Given the description of an element on the screen output the (x, y) to click on. 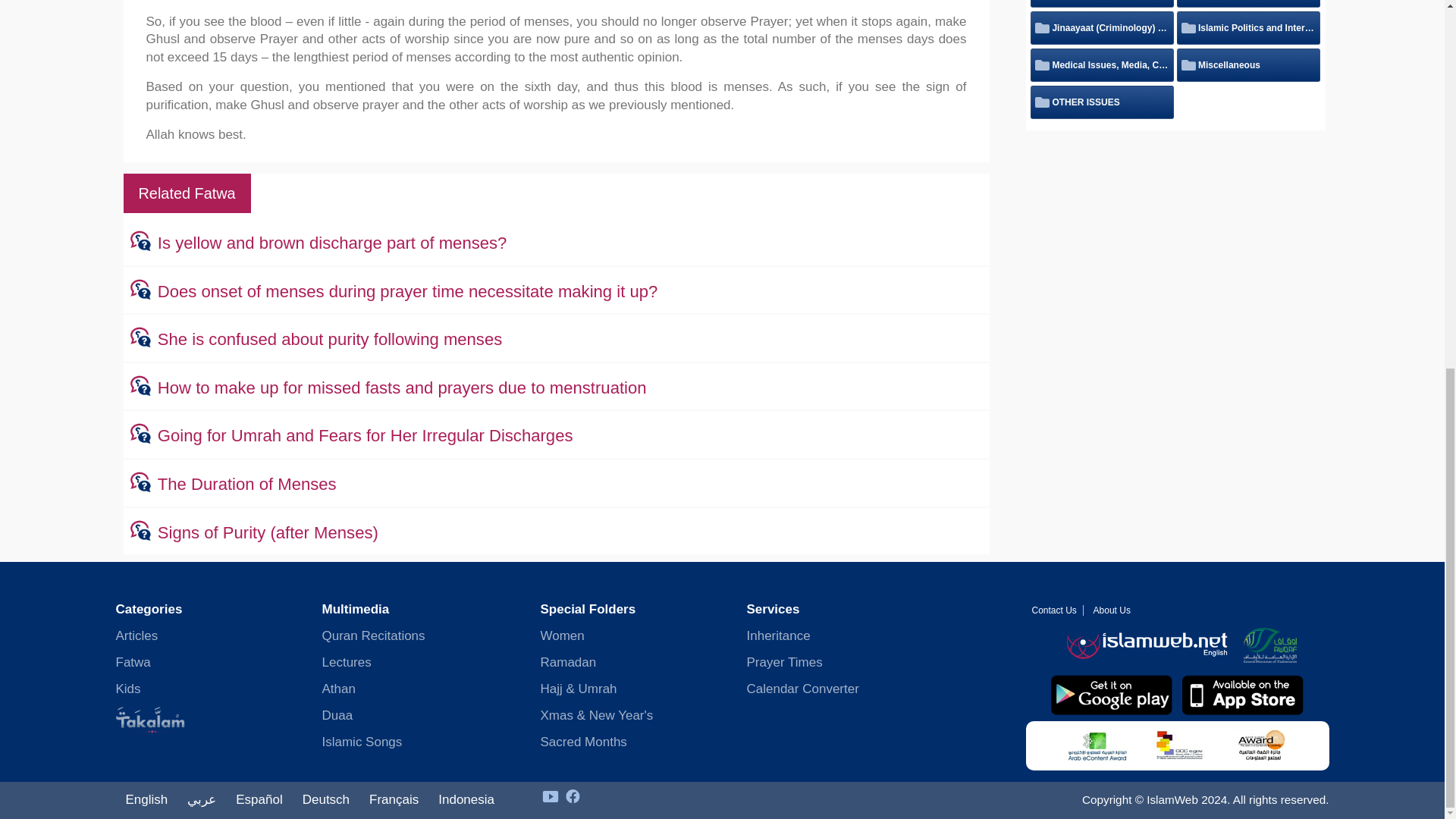
Islamic Politics and International Affairs (1248, 28)
Medical Issues, Media, Culture and Means of Entertainment (1102, 65)
on (1040, 27)
Foods, Drinks, Clothes and Adornment (1248, 3)
on (1185, 27)
Women and Family (1084, 3)
